Given the description of an element on the screen output the (x, y) to click on. 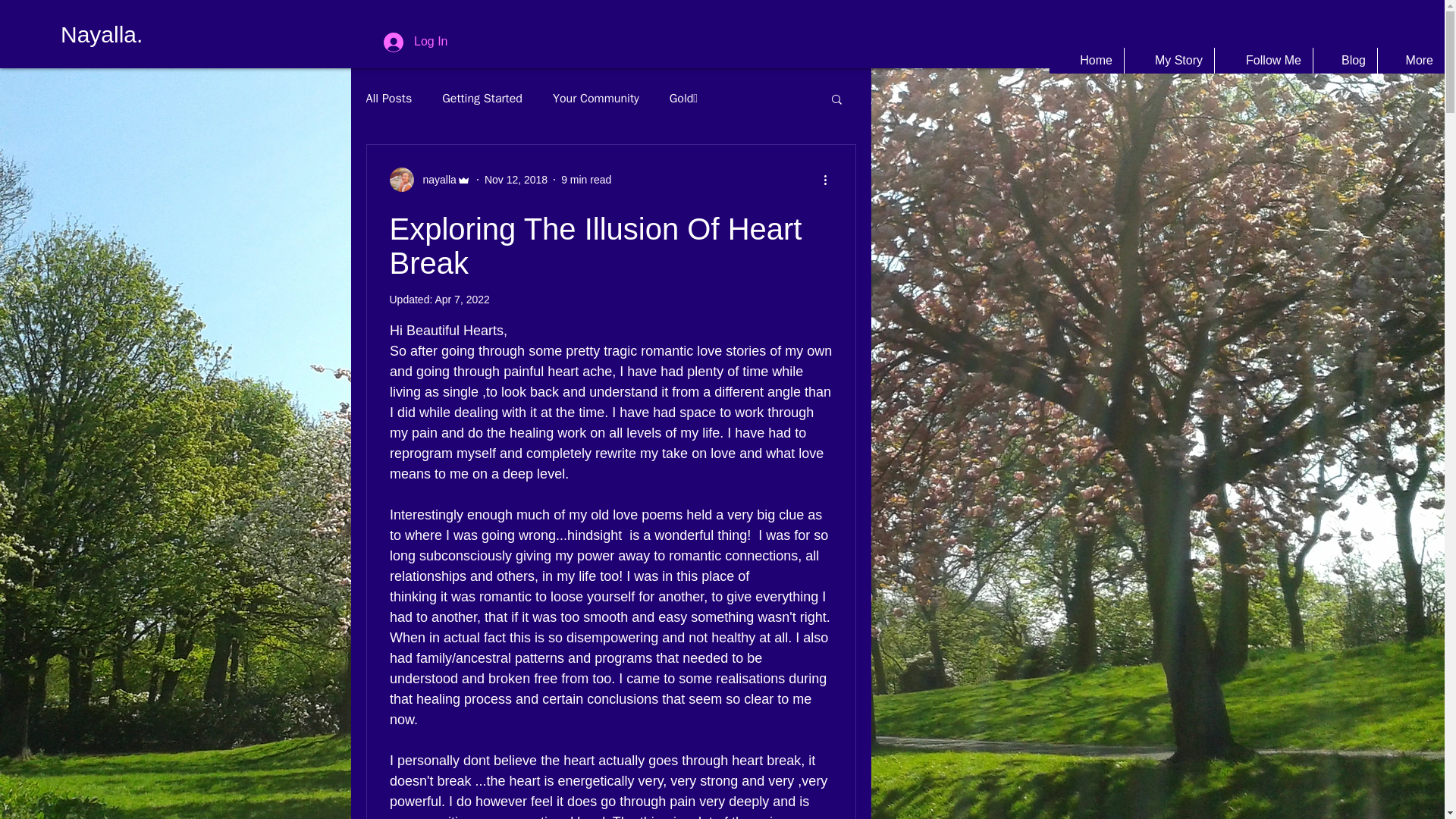
Apr 7, 2022 (461, 299)
9 min read (585, 178)
My Story (1169, 60)
Log In (415, 41)
Home (1086, 60)
Your Community (596, 98)
Getting Started (482, 98)
Nayalla. (101, 34)
Follow Me (1263, 60)
Nov 12, 2018 (515, 178)
nayalla (430, 179)
Blog (1345, 60)
nayalla (435, 179)
All Posts (388, 98)
